Given the description of an element on the screen output the (x, y) to click on. 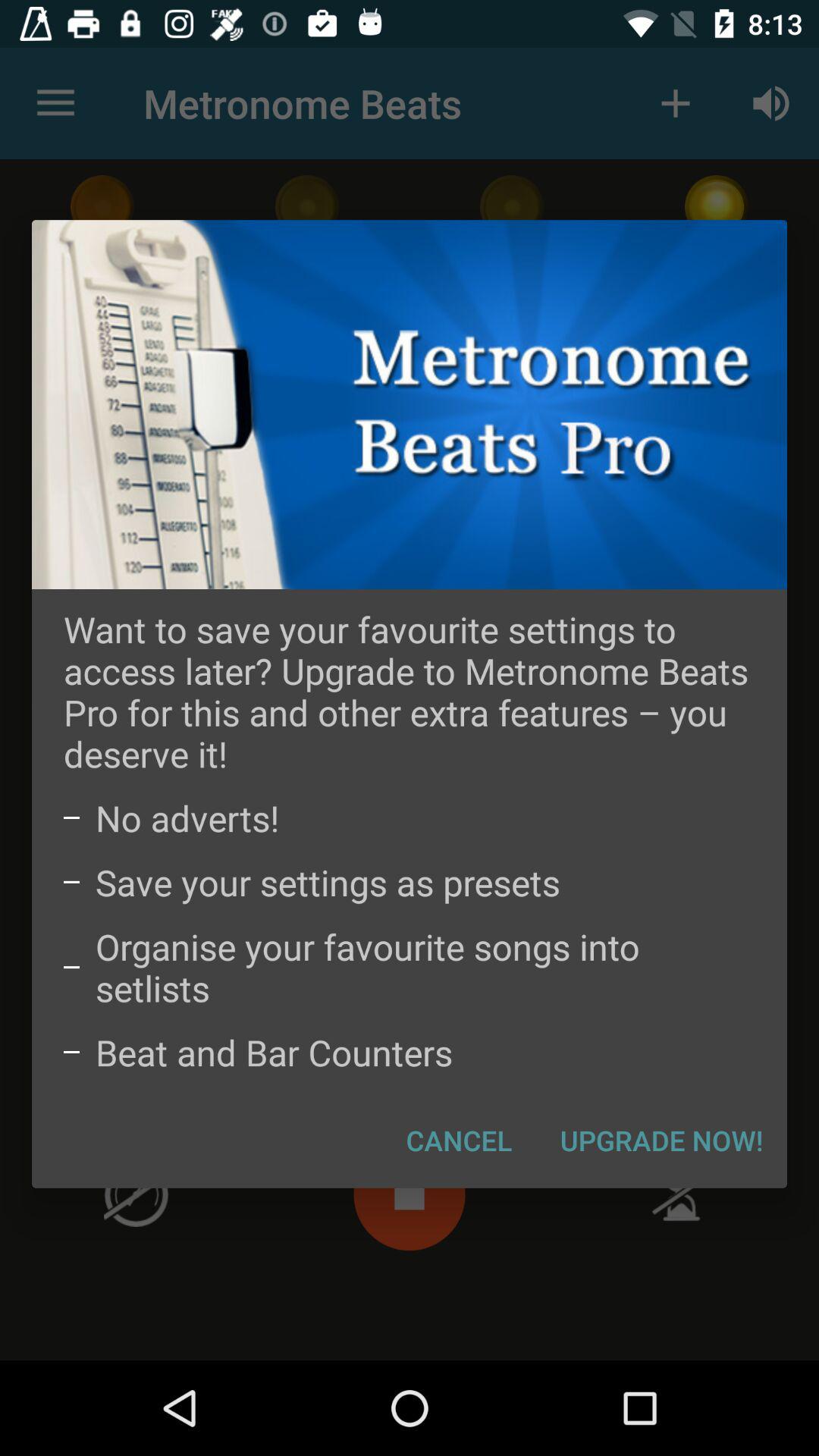
choose cancel (459, 1140)
